Given the description of an element on the screen output the (x, y) to click on. 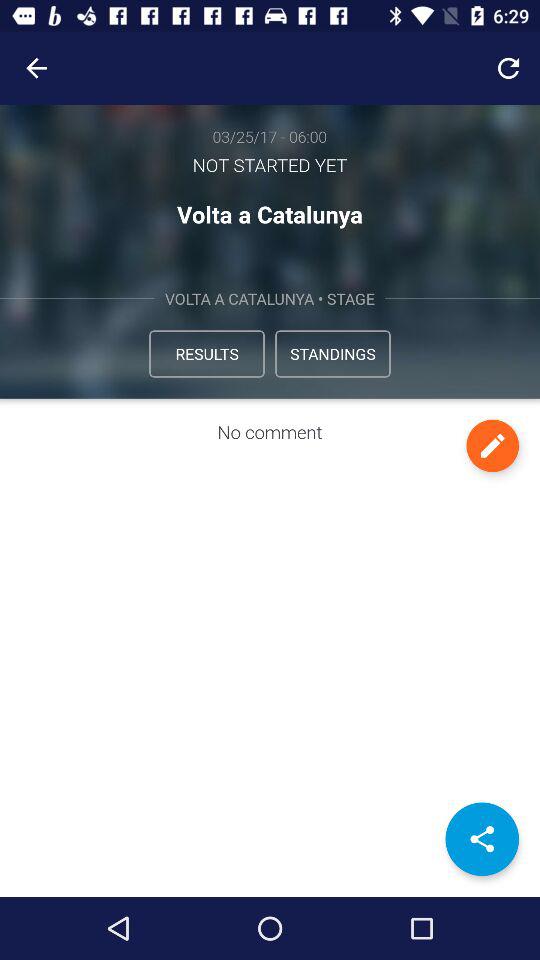
launch the standings icon (332, 353)
